Given the description of an element on the screen output the (x, y) to click on. 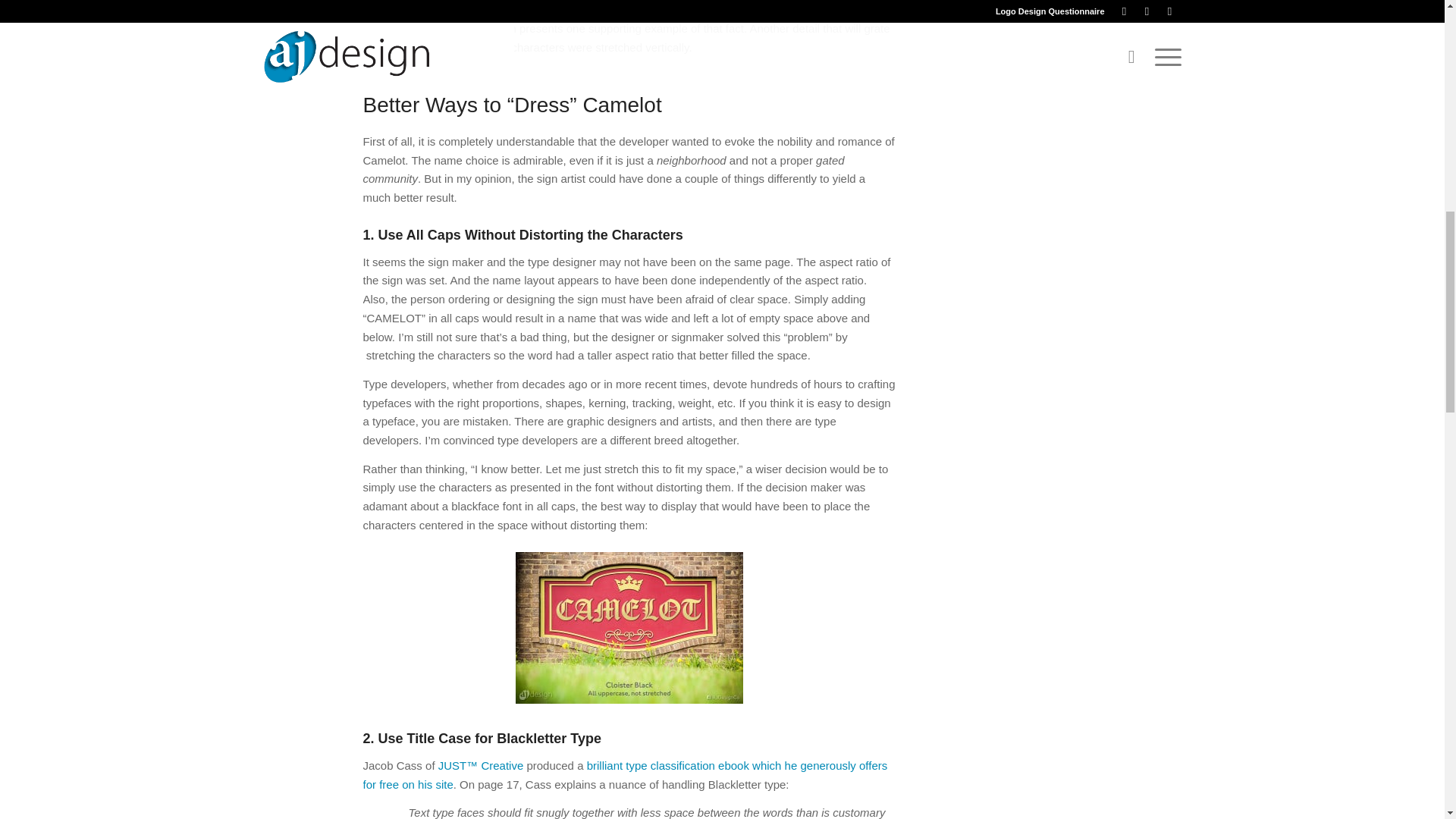
Download the Free 27 Page Type Classification eBook (624, 775)
